Given the description of an element on the screen output the (x, y) to click on. 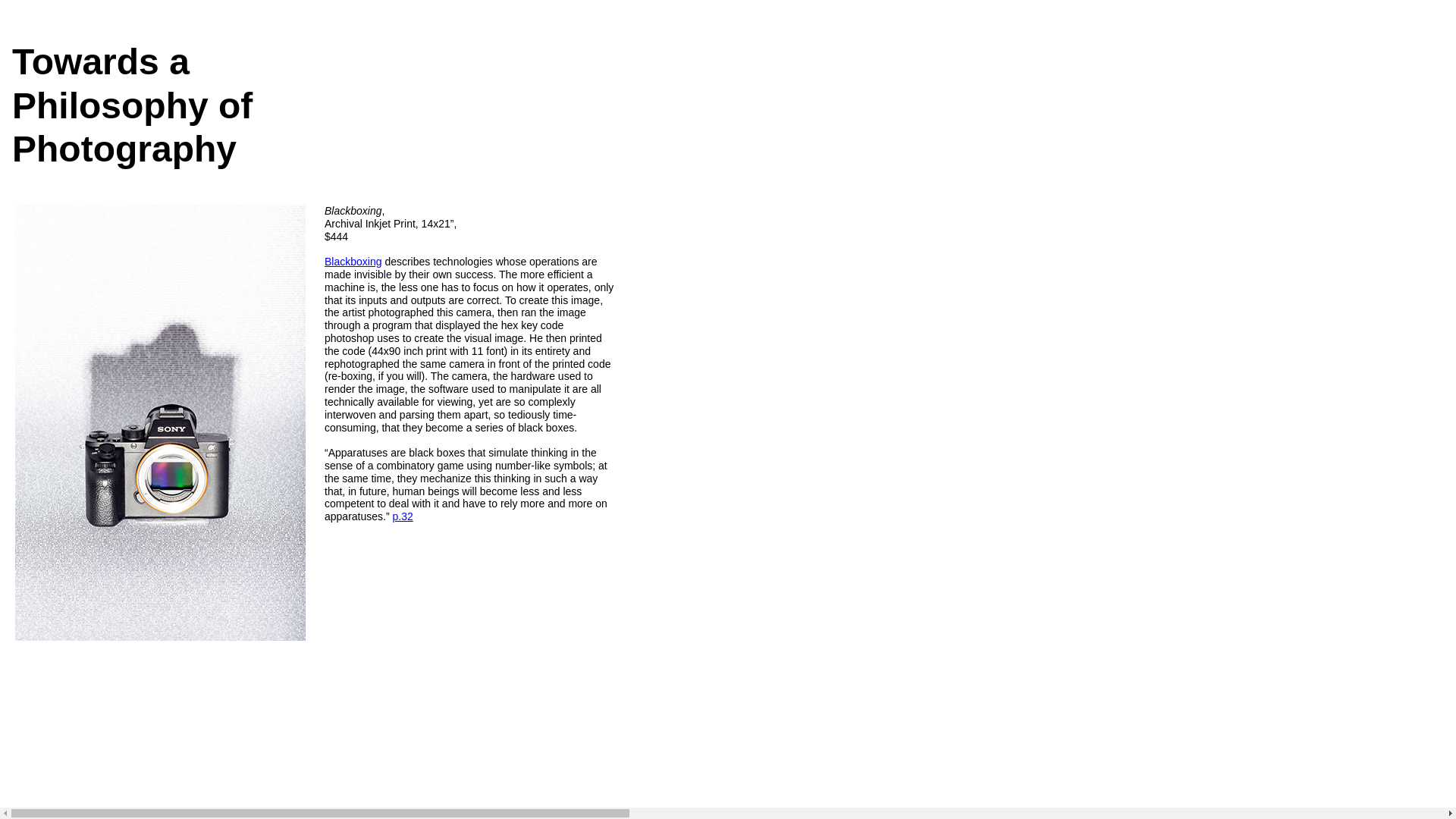
Towards a Philosophy of Photography (159, 105)
Blackboxing (352, 261)
p.32 (403, 516)
